Given the description of an element on the screen output the (x, y) to click on. 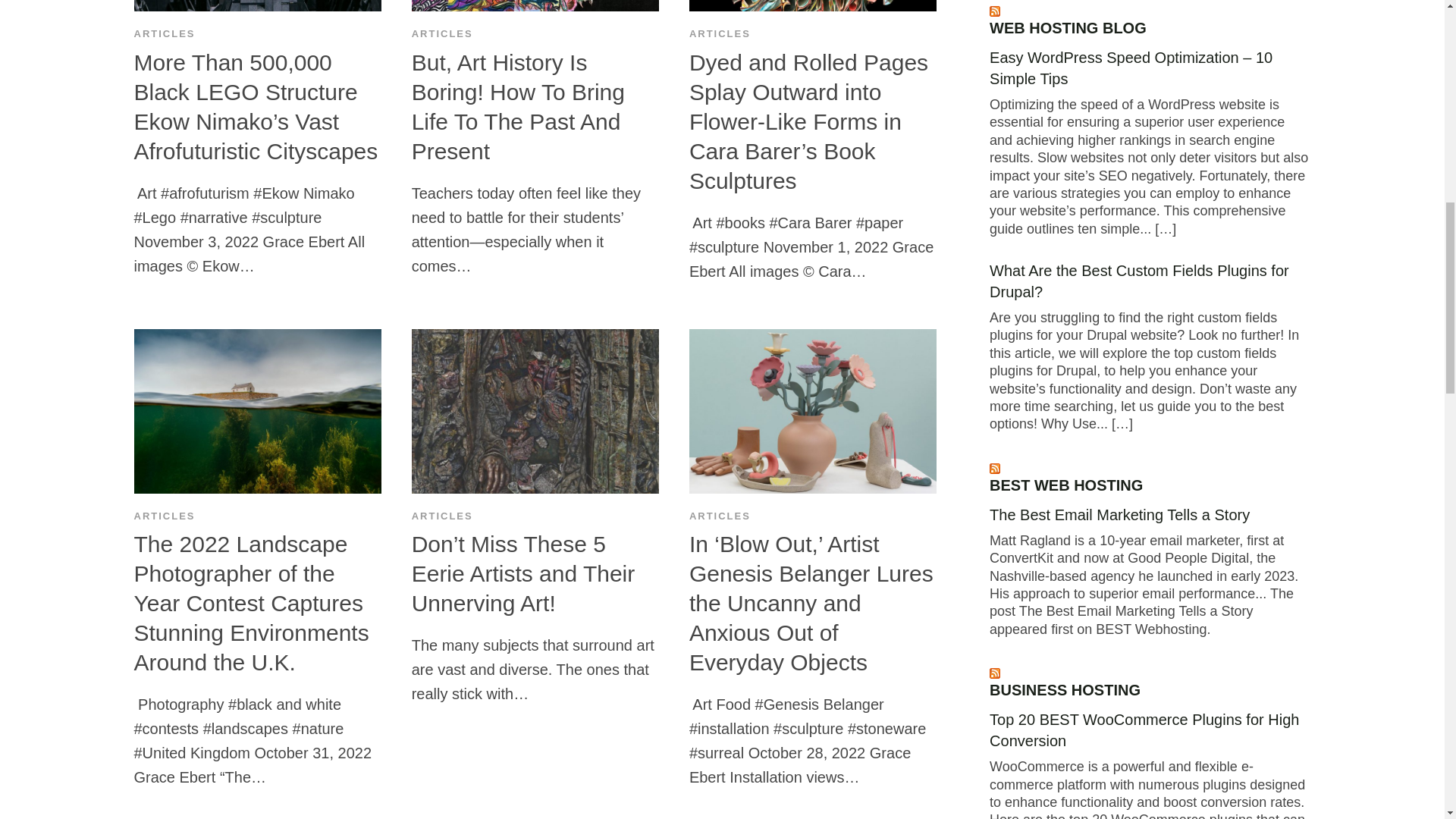
ARTICLES (164, 33)
ARTICLES (164, 515)
ARTICLES (442, 33)
ARTICLES (442, 515)
ARTICLES (719, 33)
ARTICLES (719, 515)
